Given the description of an element on the screen output the (x, y) to click on. 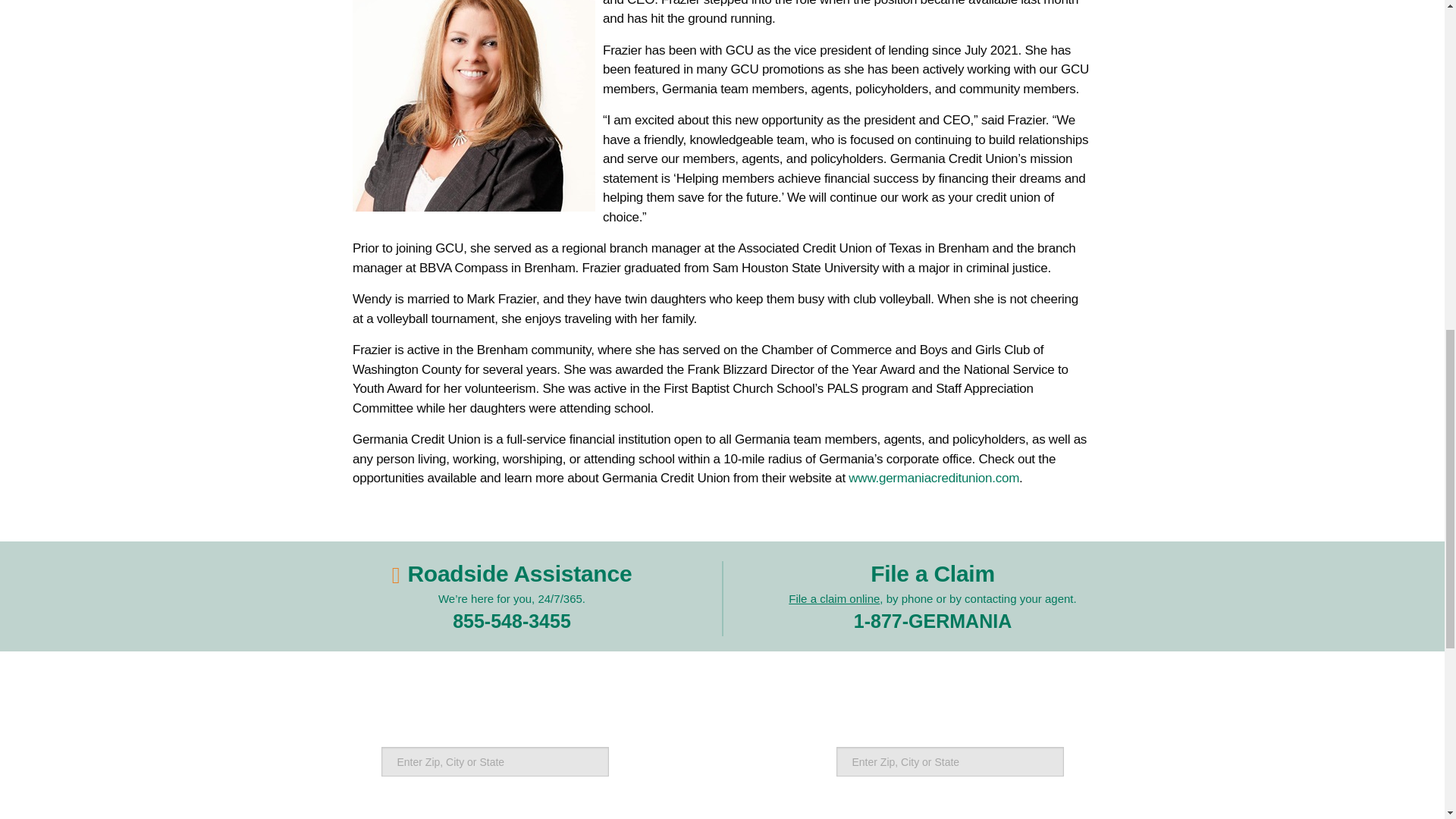
1-877-GERMANIA (932, 620)
855-548-3455 (511, 620)
Wendy Frazier headshot (473, 105)
File a claim online (834, 597)
www.germaniacreditunion.com (933, 477)
